Given the description of an element on the screen output the (x, y) to click on. 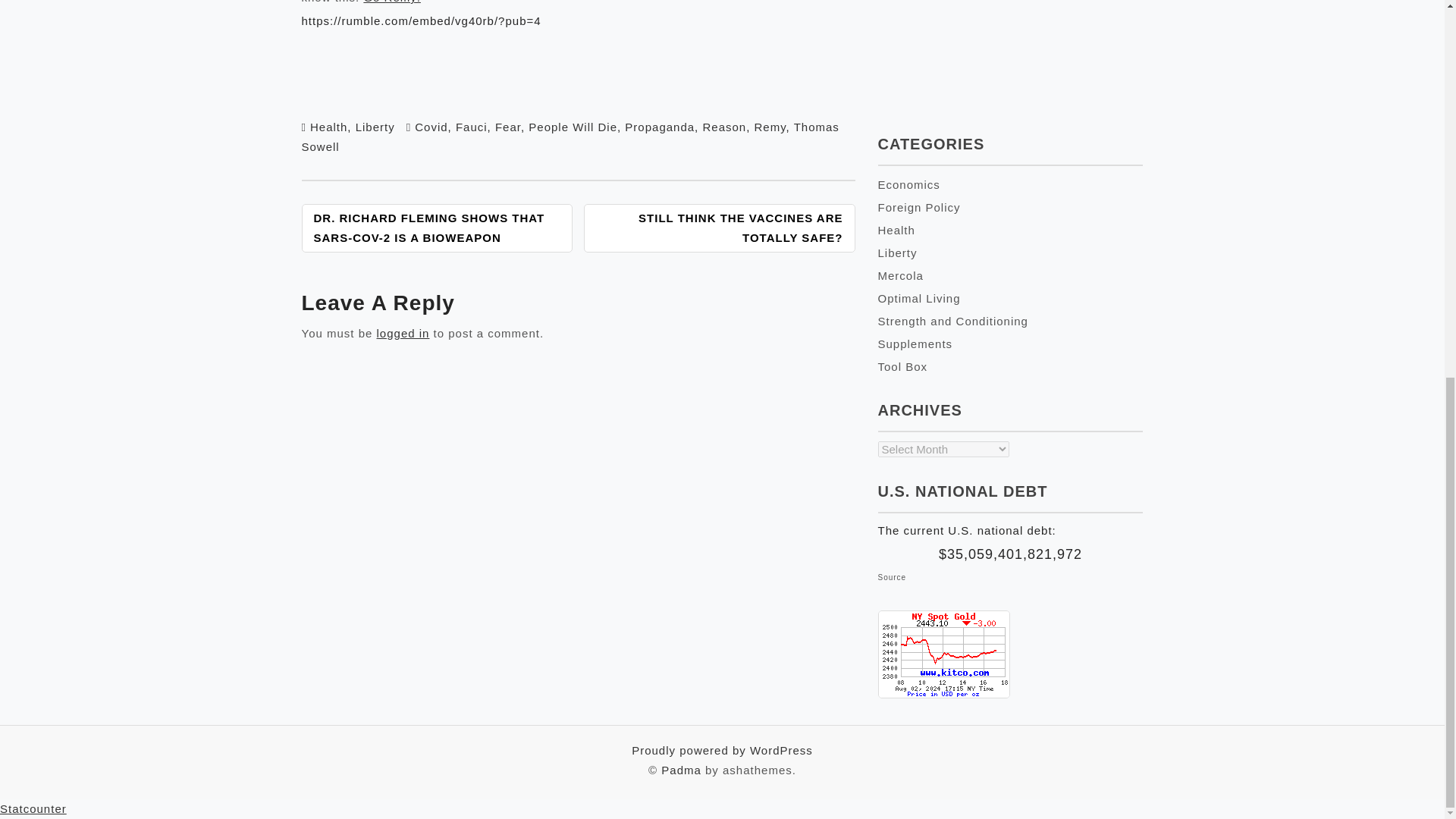
Reason (723, 126)
Remy (770, 126)
Health (328, 126)
People Will Die (572, 126)
Fauci (471, 126)
Go Remy! (391, 2)
Covid (430, 126)
Fear (508, 126)
Thomas Sowell (570, 136)
Propaganda (659, 126)
Liberty (374, 126)
